Given the description of an element on the screen output the (x, y) to click on. 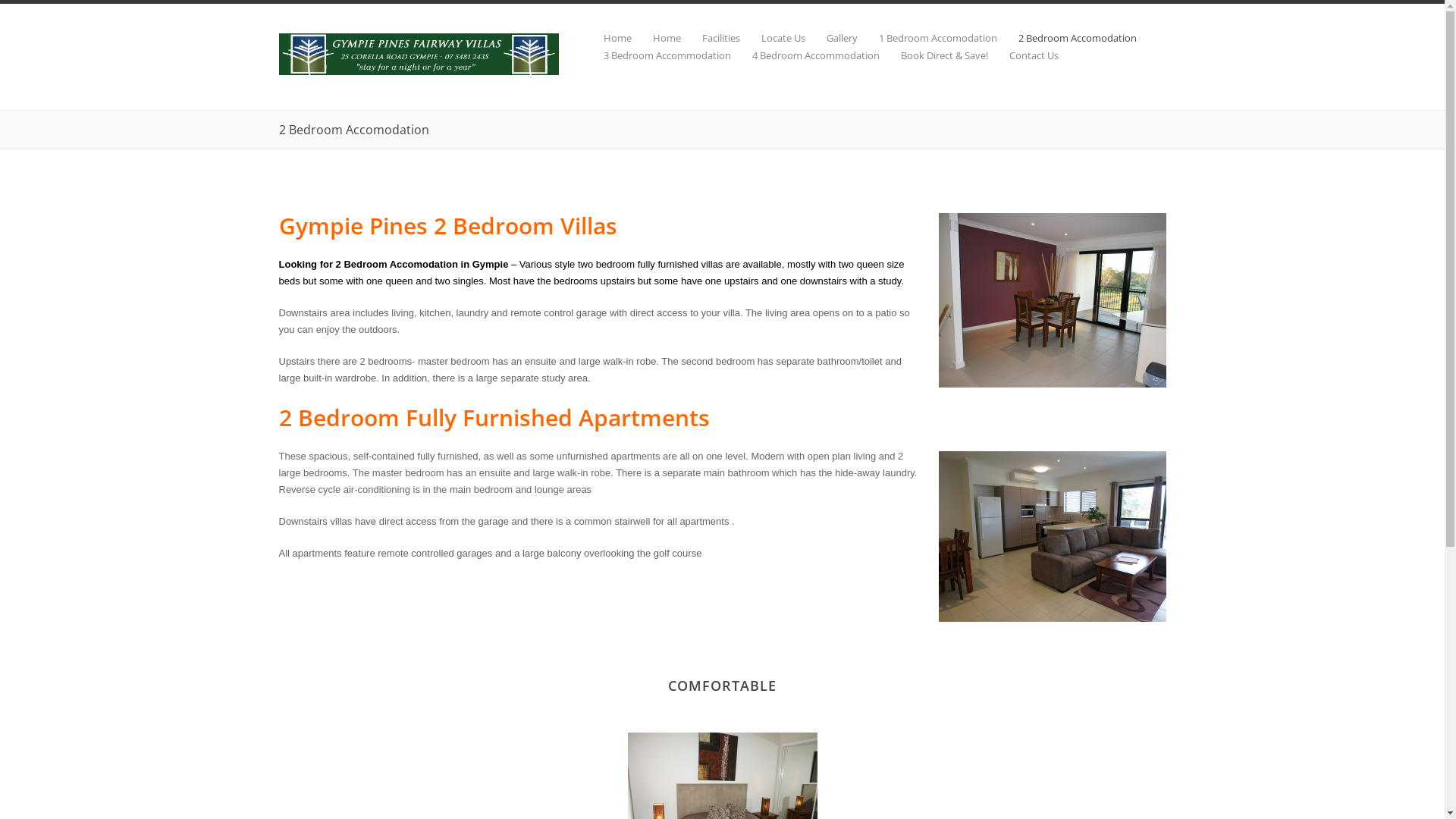
Home Element type: text (655, 38)
4 Bedroom Accommodation Element type: text (805, 55)
Facilities Element type: text (710, 38)
Home Element type: text (606, 38)
Gympie Pines Fairway Villas Element type: hover (419, 71)
2 Bedroom Accomodation Element type: text (1065, 38)
Locate Us Element type: text (772, 38)
1 Bedroom Accomodation Element type: text (926, 38)
Contact Us Element type: text (1022, 55)
Gallery Element type: text (831, 38)
3 Bedroom Accommodation Element type: text (656, 55)
Book Direct & Save! Element type: text (933, 55)
